Given the description of an element on the screen output the (x, y) to click on. 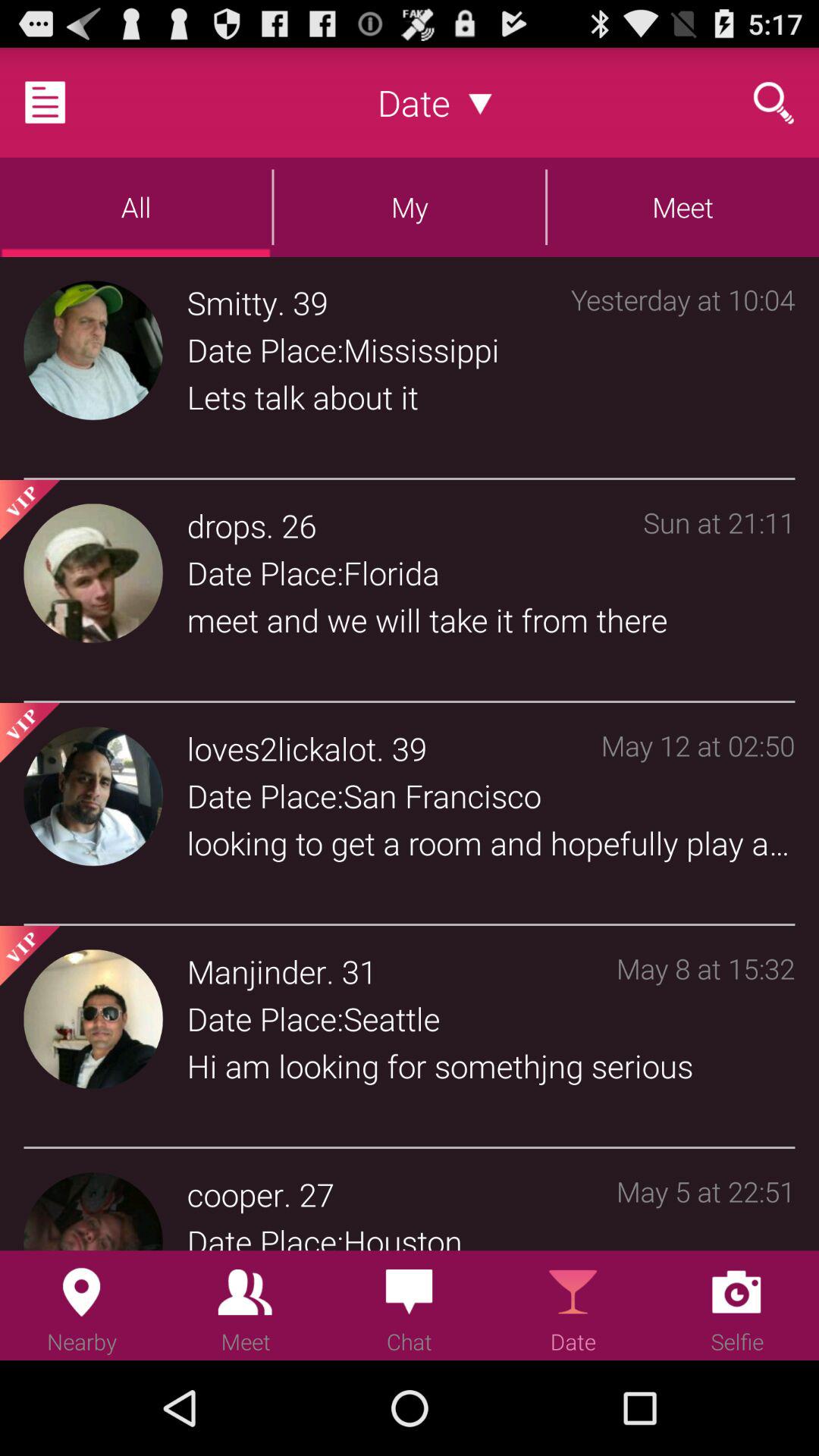
search dating (773, 102)
